Given the description of an element on the screen output the (x, y) to click on. 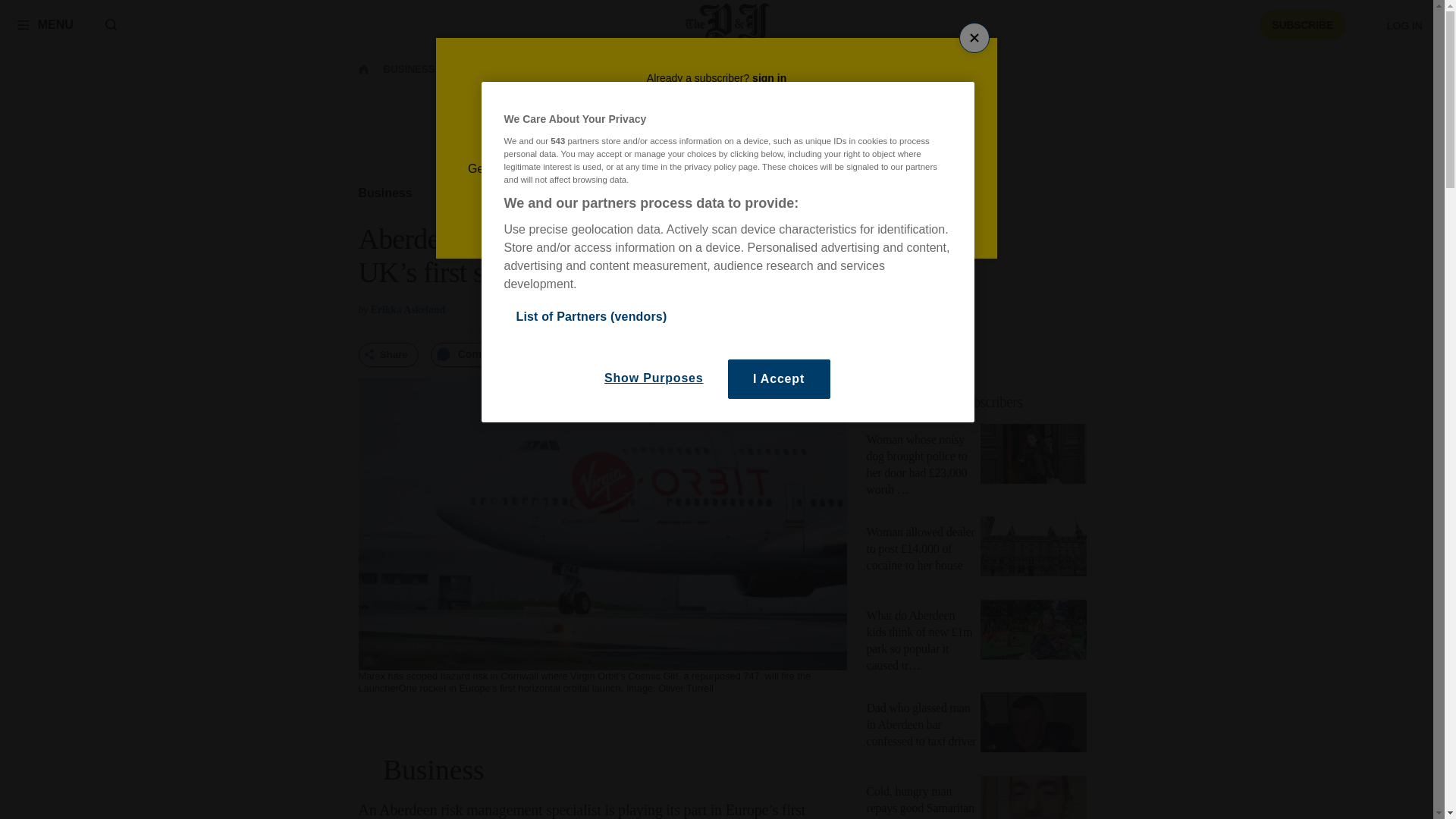
MENU (44, 24)
Dad who glassed man in Aberdeen bar confessed to taxi driver (1032, 725)
Exclusive to our subscribers (981, 402)
Dad who glassed man in Aberdeen bar confessed to taxi driver (920, 724)
Exclusive to our subscribers (385, 193)
Press and Journal (944, 402)
